Given the description of an element on the screen output the (x, y) to click on. 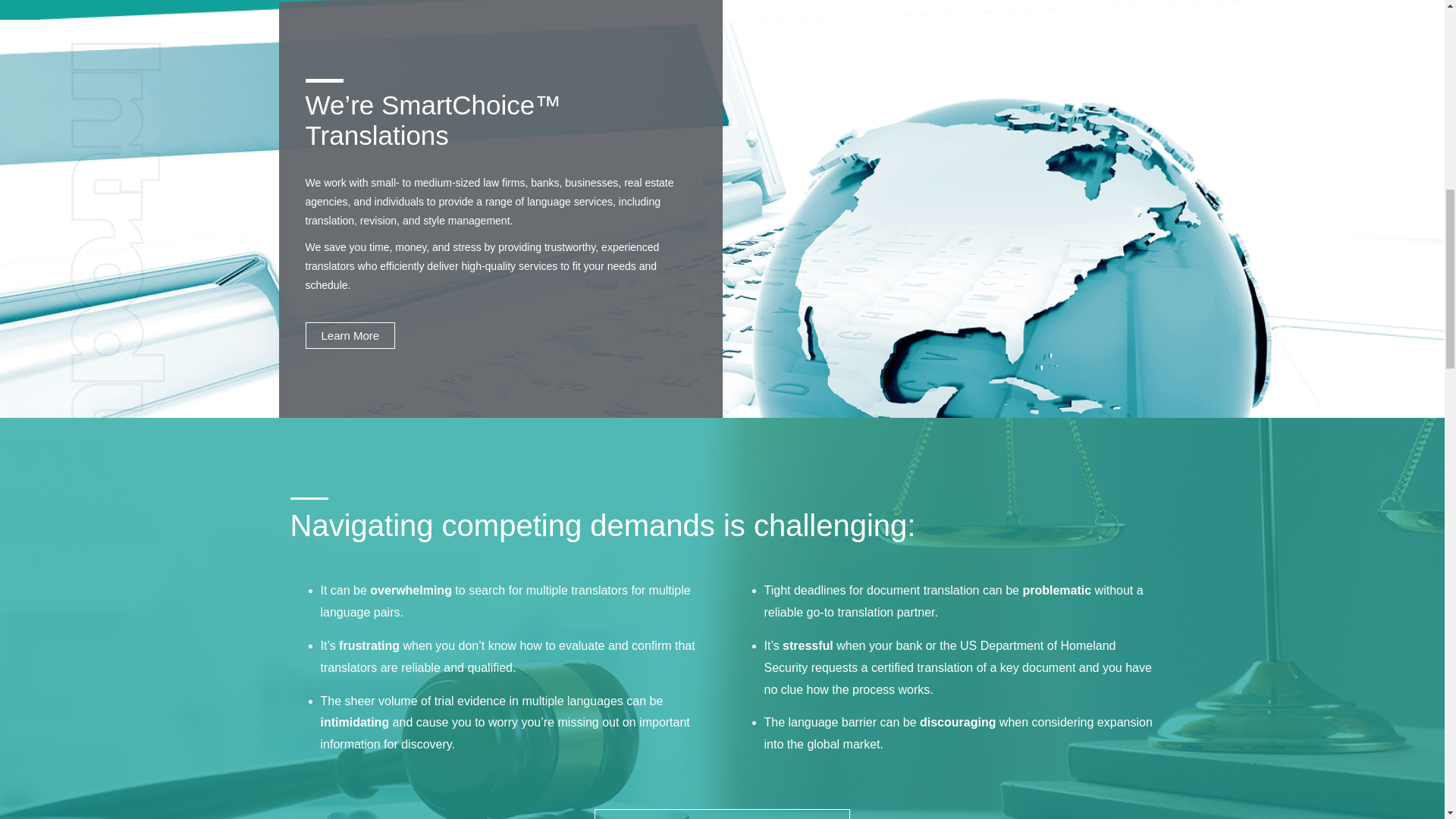
Work With Us (722, 814)
Home (349, 335)
Learn More (349, 335)
